Given the description of an element on the screen output the (x, y) to click on. 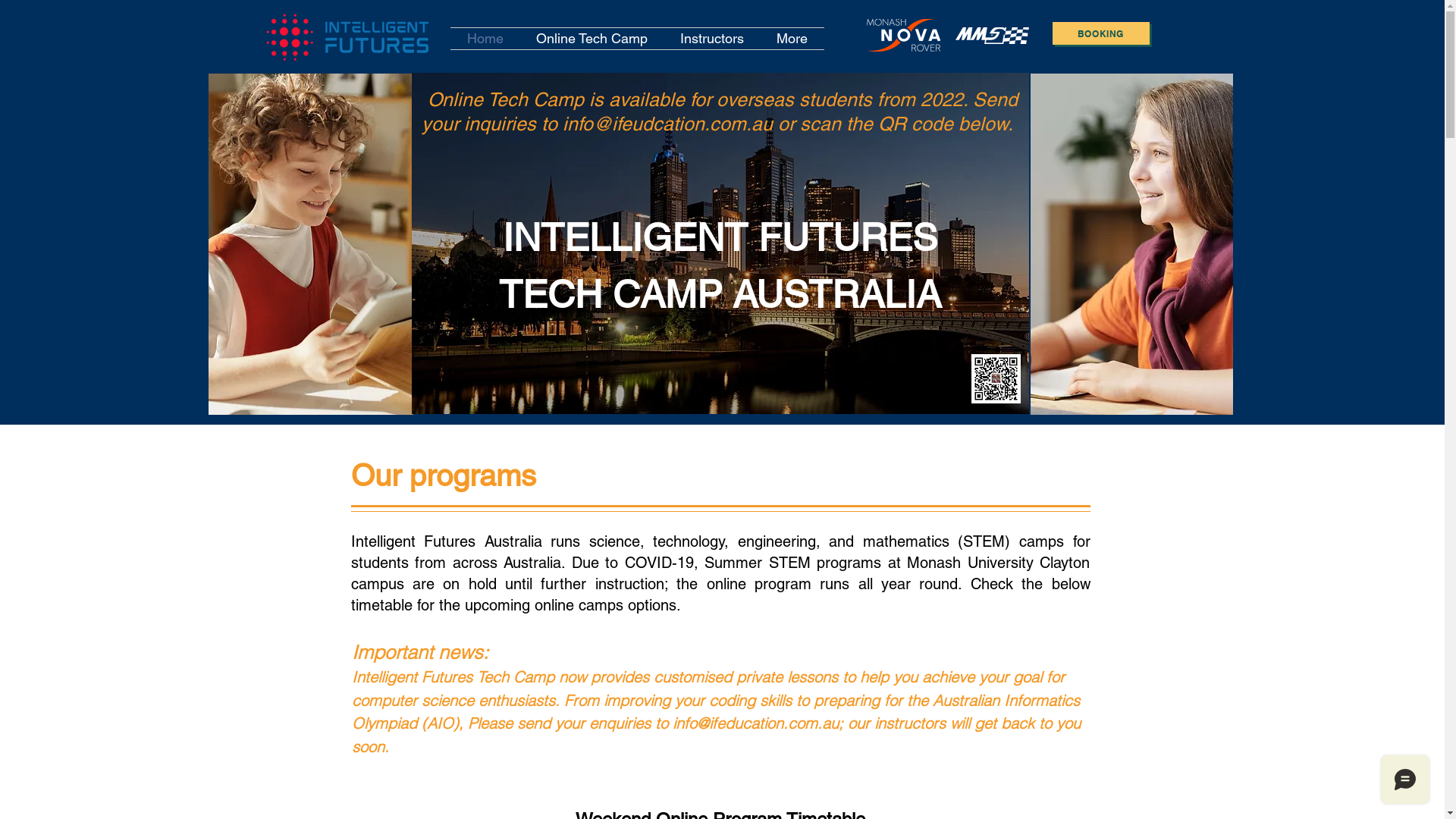
BOOKING Element type: text (1022, 726)
BOOKING Element type: text (1100, 32)
info@ifeudcation.com.au Element type: text (667, 123)
Online Tech Camp Element type: text (592, 38)
Instructors Element type: text (712, 38)
Home Element type: text (485, 38)
logo_edited.png Element type: hover (348, 35)
info@ifeducation.com.au Element type: text (754, 722)
